Given the description of an element on the screen output the (x, y) to click on. 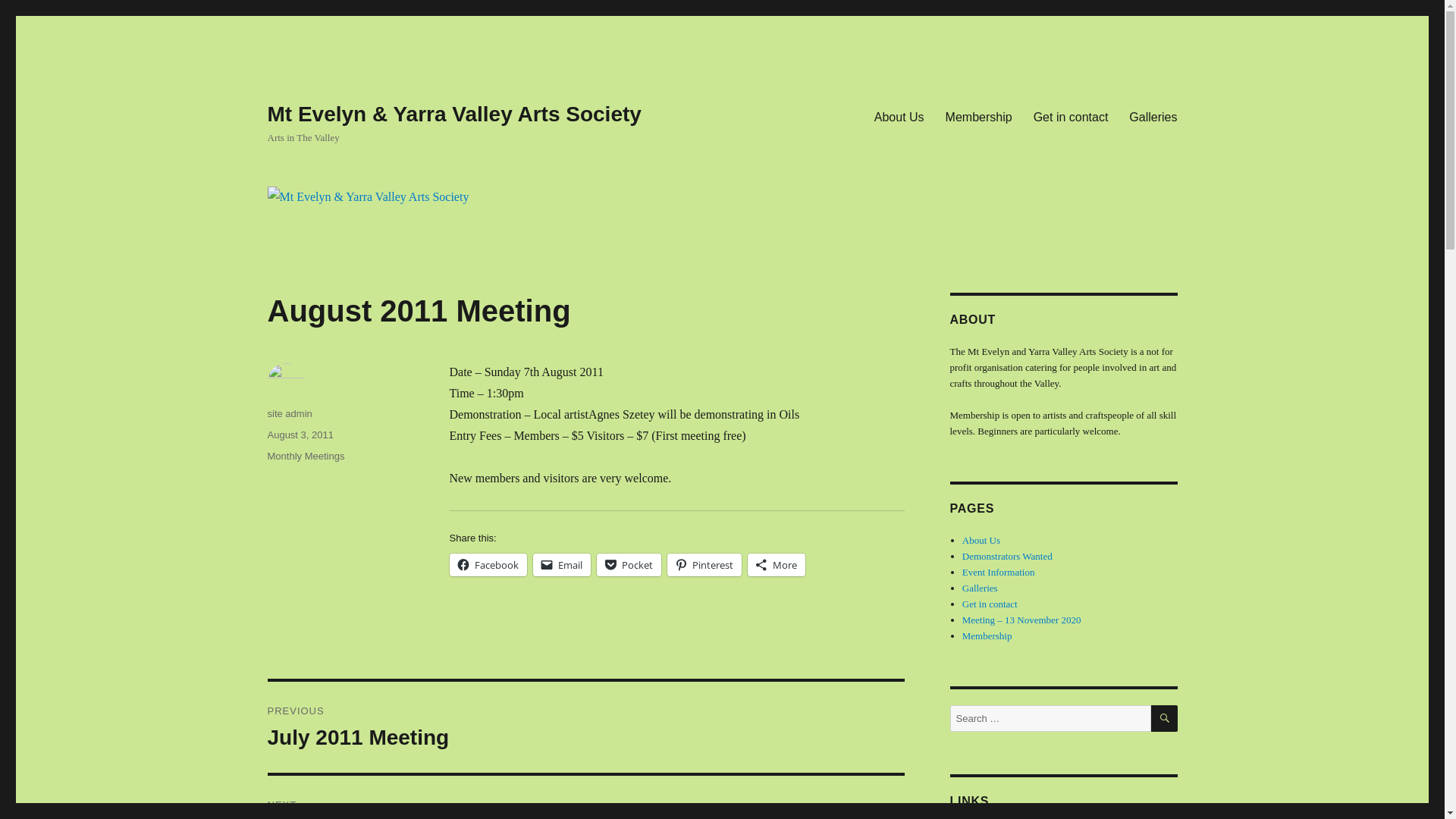
site admin Element type: text (288, 413)
Galleries Element type: text (1152, 116)
Event Information Element type: text (998, 571)
About Us Element type: text (899, 116)
Get in contact Element type: text (989, 603)
Mt Evelyn & Yarra Valley Arts Society Element type: text (453, 113)
SEARCH Element type: text (1164, 718)
Facebook Element type: text (487, 564)
Membership Element type: text (978, 116)
More Element type: text (776, 564)
Galleries Element type: text (979, 587)
Demonstrators Wanted Element type: text (1007, 555)
Get in contact Element type: text (1070, 116)
Email Element type: text (560, 564)
Membership Element type: text (987, 635)
Pinterest Element type: text (704, 564)
Monthly Meetings Element type: text (305, 455)
August 3, 2011 Element type: text (299, 434)
PREVIOUS
Previous post:
July 2011 Meeting Element type: text (584, 726)
Pocket Element type: text (628, 564)
About Us Element type: text (981, 540)
